Given the description of an element on the screen output the (x, y) to click on. 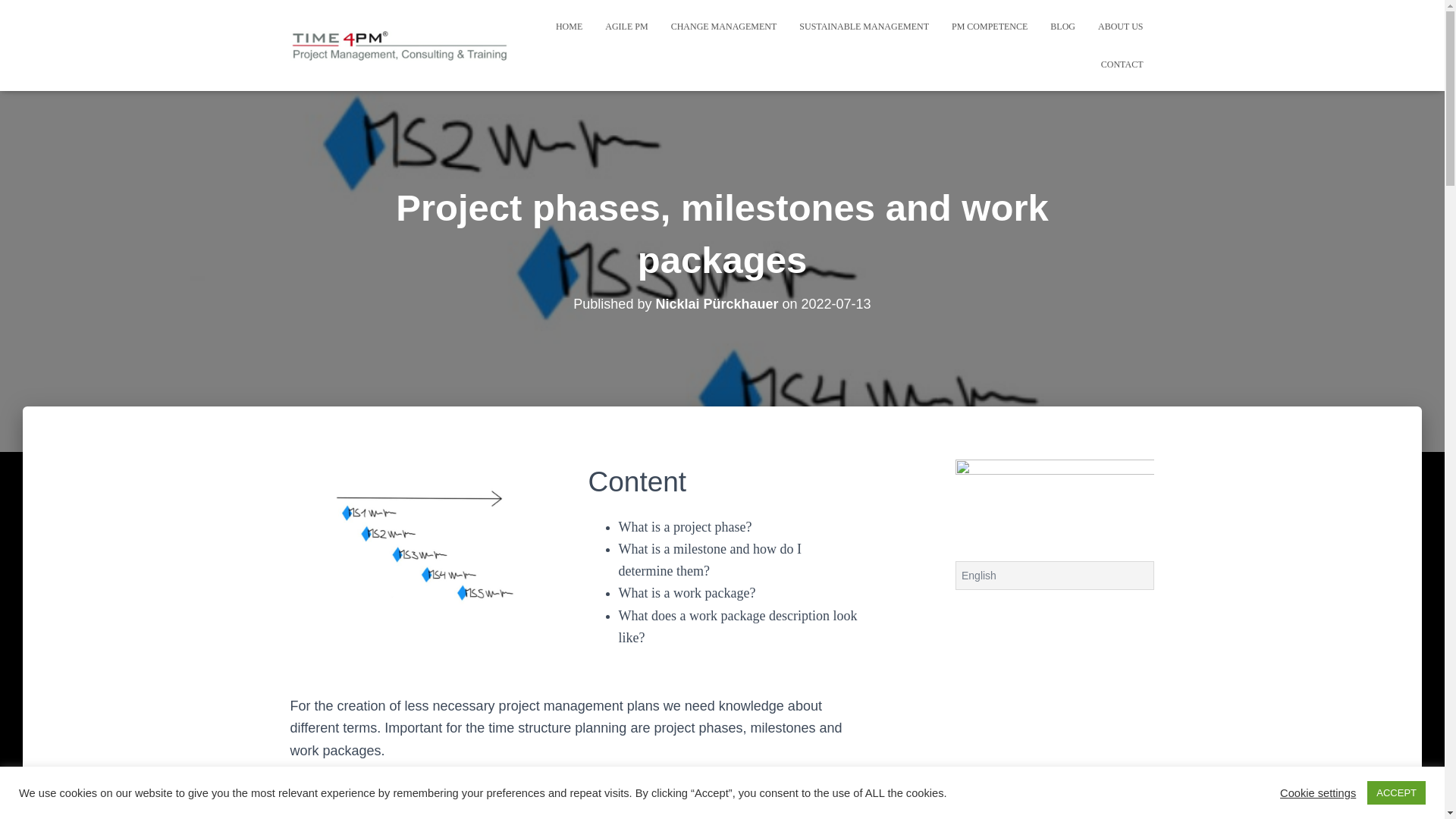
SUSTAINABLE MANAGEMENT (863, 26)
About Us (1120, 26)
Agile PM (626, 26)
Contact (1121, 64)
HOME (569, 26)
ABOUT US (1120, 26)
CHANGE MANAGEMENT (724, 26)
Blog (1062, 26)
PM COMPETENCE (989, 26)
Sustainable Management (863, 26)
CONTACT (1121, 64)
BLOG (1062, 26)
Change Management (724, 26)
PM Competence (989, 26)
AGILE PM (626, 26)
